Given the description of an element on the screen output the (x, y) to click on. 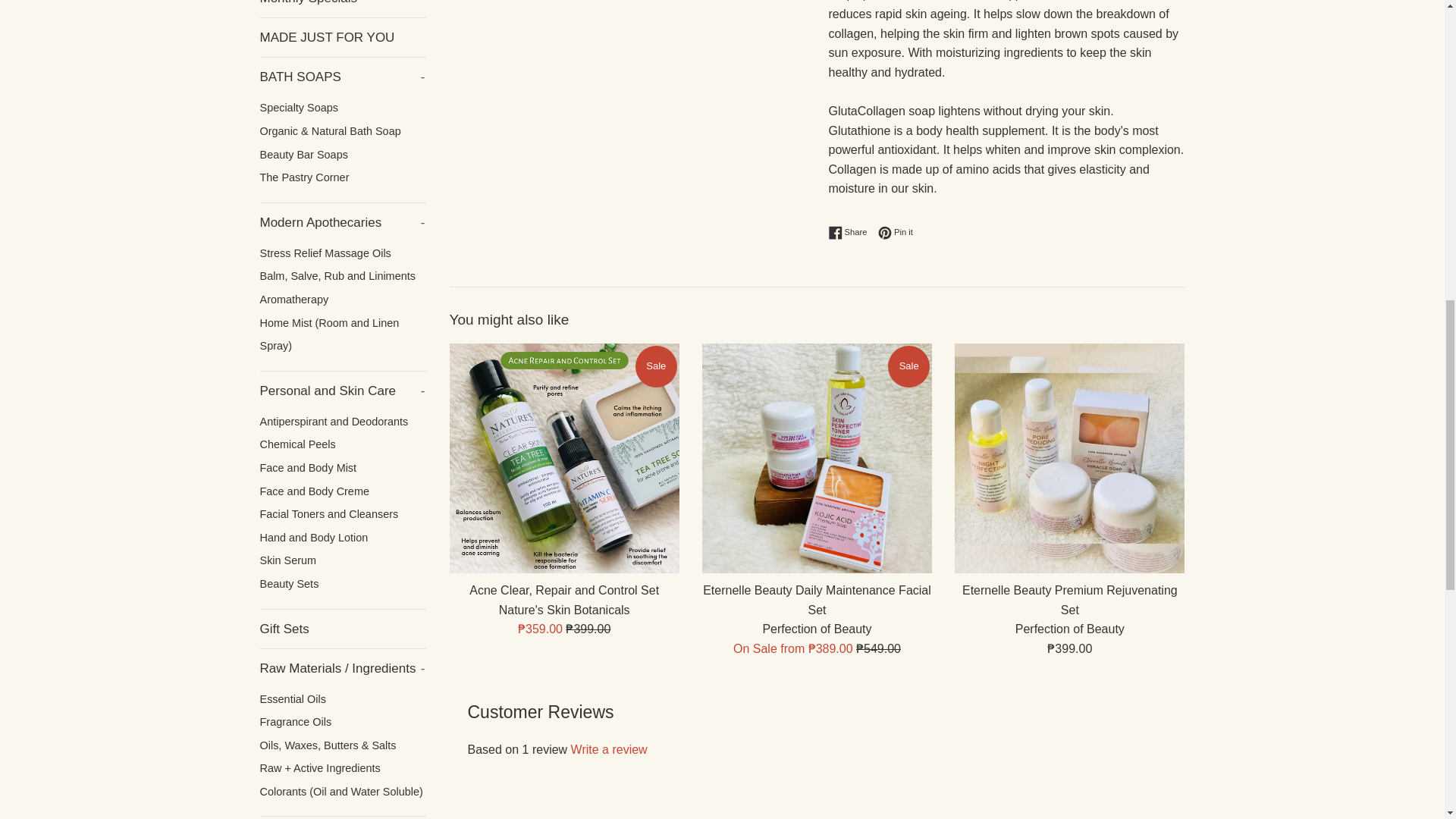
MADE JUST FOR YOU (342, 37)
Eternelle Beauty Premium Rejuvenating Set (1070, 458)
Monthly Specials (342, 8)
Pin on Pinterest (894, 232)
Acne Clear, Repair and Control Set (342, 76)
Eternelle Beauty Daily Maintenance Facial Set (342, 222)
Beauty Bar Soaps (563, 458)
Share on Facebook (816, 458)
Stress Relief Massage Oils (342, 155)
The Pastry Corner (851, 232)
Specialty Soaps (342, 253)
Balm, Salve, Rub and Liniments (342, 177)
